Given the description of an element on the screen output the (x, y) to click on. 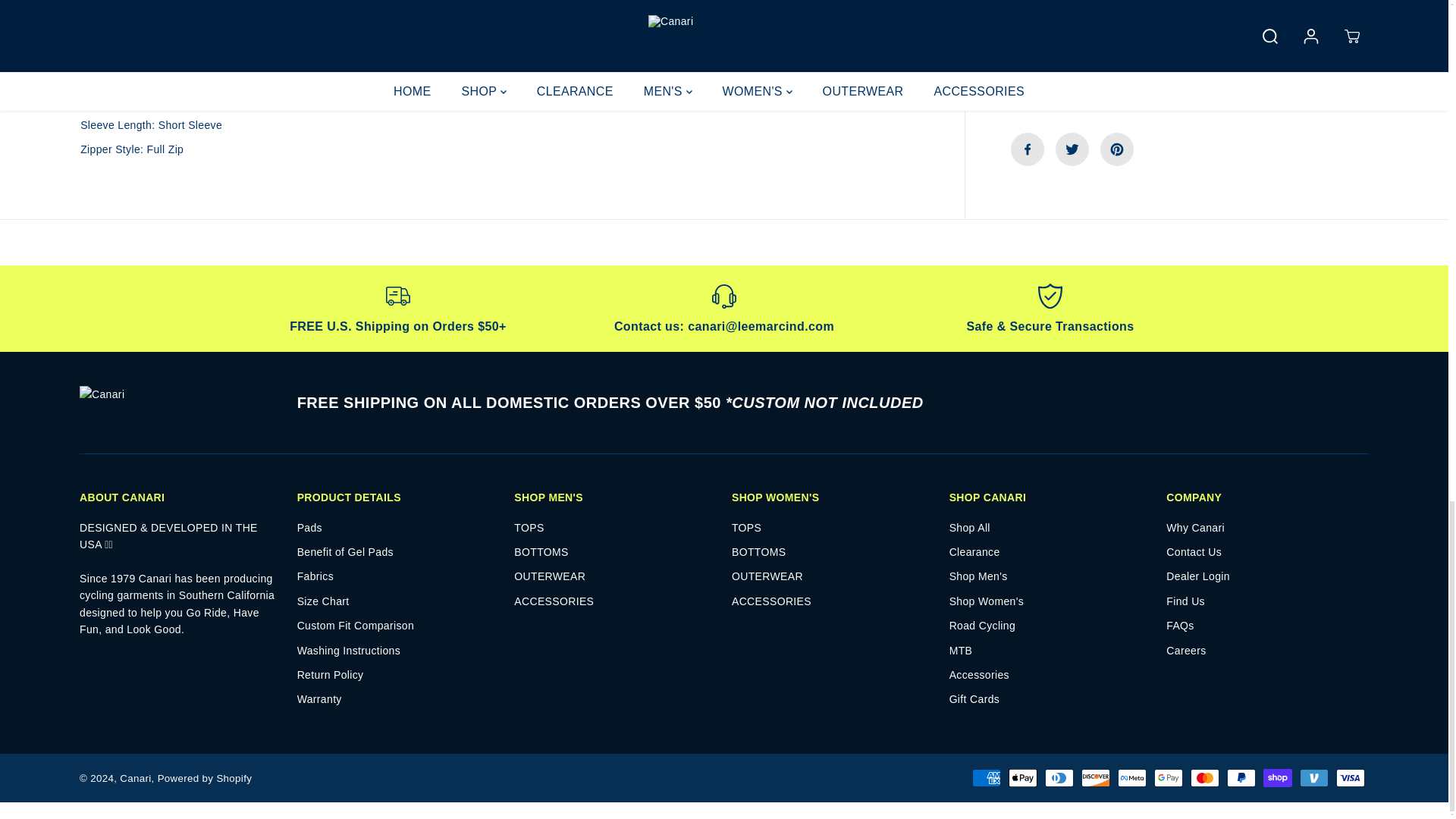
American Express (986, 778)
Discover (1095, 778)
Apple Pay (1022, 778)
Meta Pay (1132, 778)
Diners Club (1059, 778)
Google Pay (1168, 778)
